Given the description of an element on the screen output the (x, y) to click on. 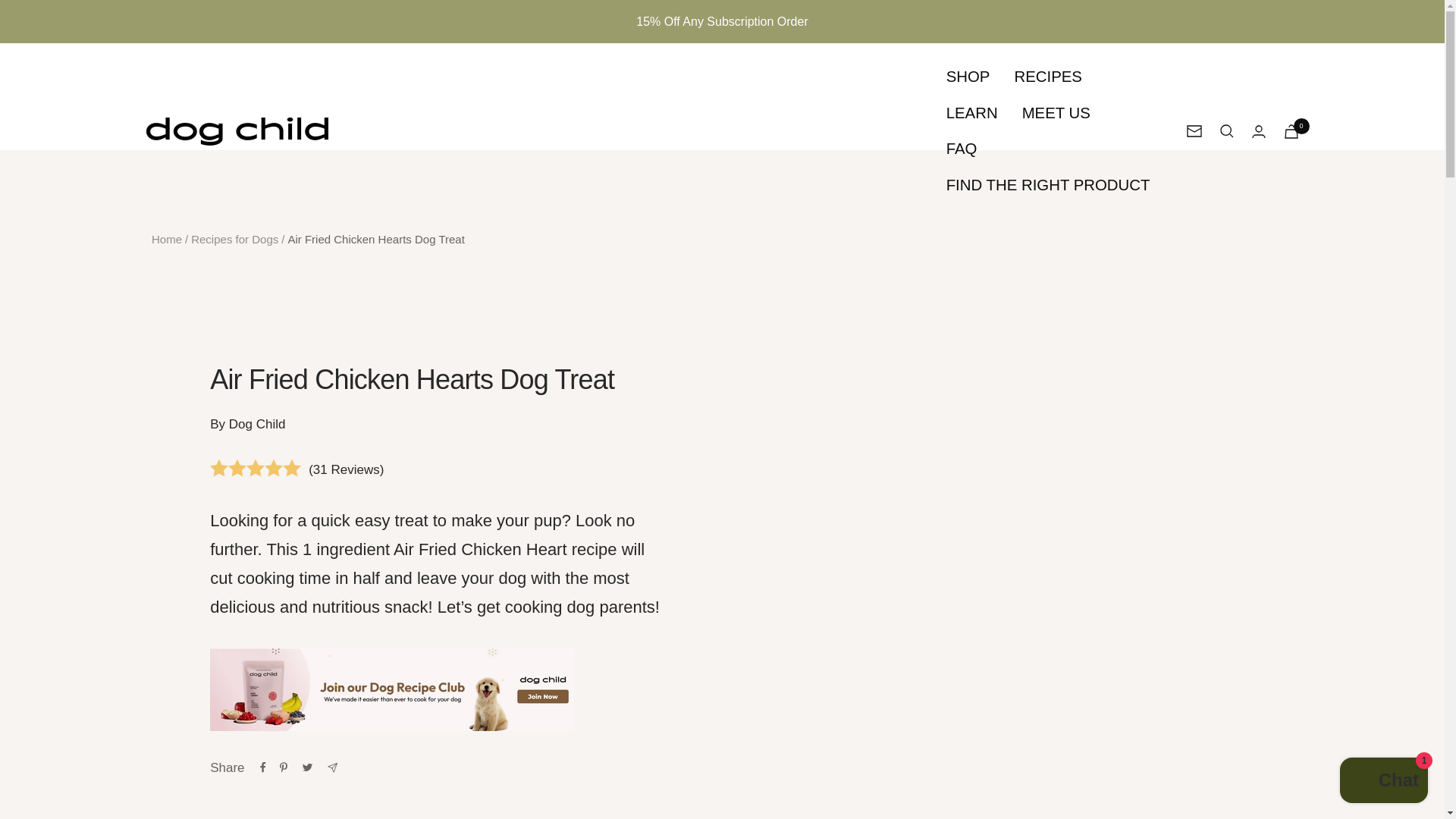
Newsletter (1193, 131)
FAQ (961, 148)
FIND THE RIGHT PRODUCT (1048, 184)
LEARN (971, 112)
Home (166, 238)
Dog Child (236, 131)
SHOP (968, 76)
Shopify online store chat (1383, 781)
0 (1290, 131)
RECIPES (1047, 76)
MEET US (1056, 112)
Recipes for Dogs (234, 238)
Recipe Club Sign Up (438, 689)
